Given the description of an element on the screen output the (x, y) to click on. 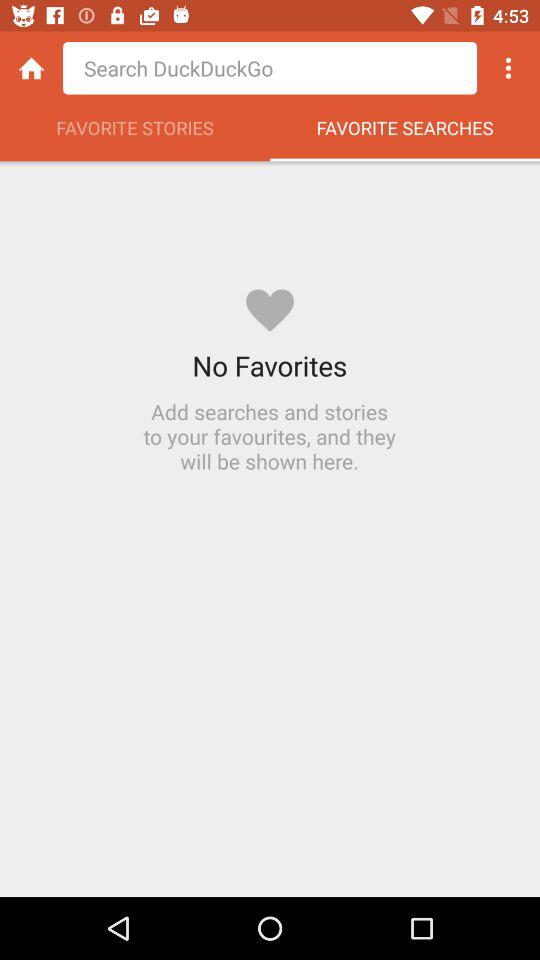
go home (31, 68)
